Given the description of an element on the screen output the (x, y) to click on. 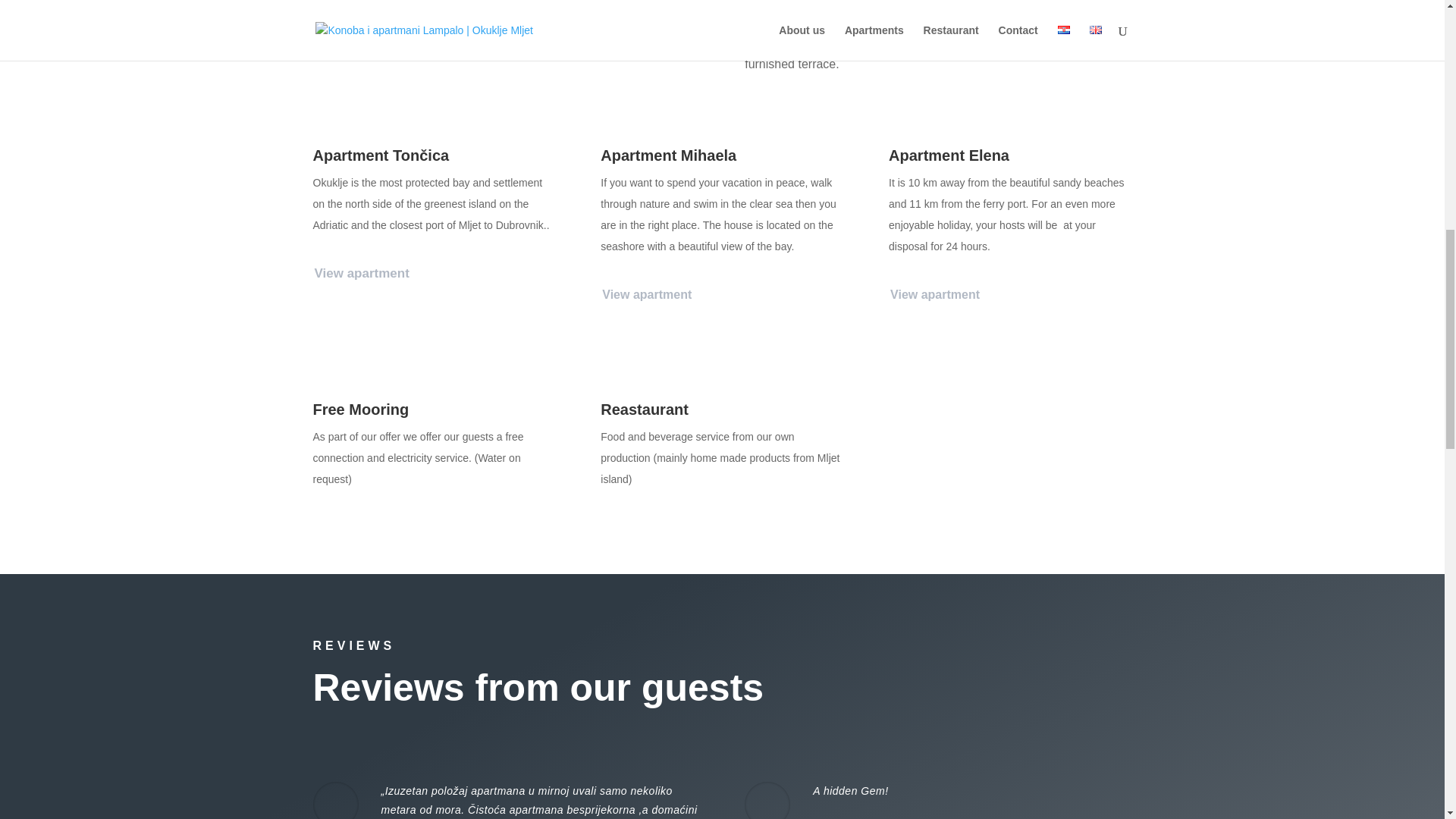
View apartment (651, 294)
View apartment (368, 273)
View apartment (940, 294)
